Given the description of an element on the screen output the (x, y) to click on. 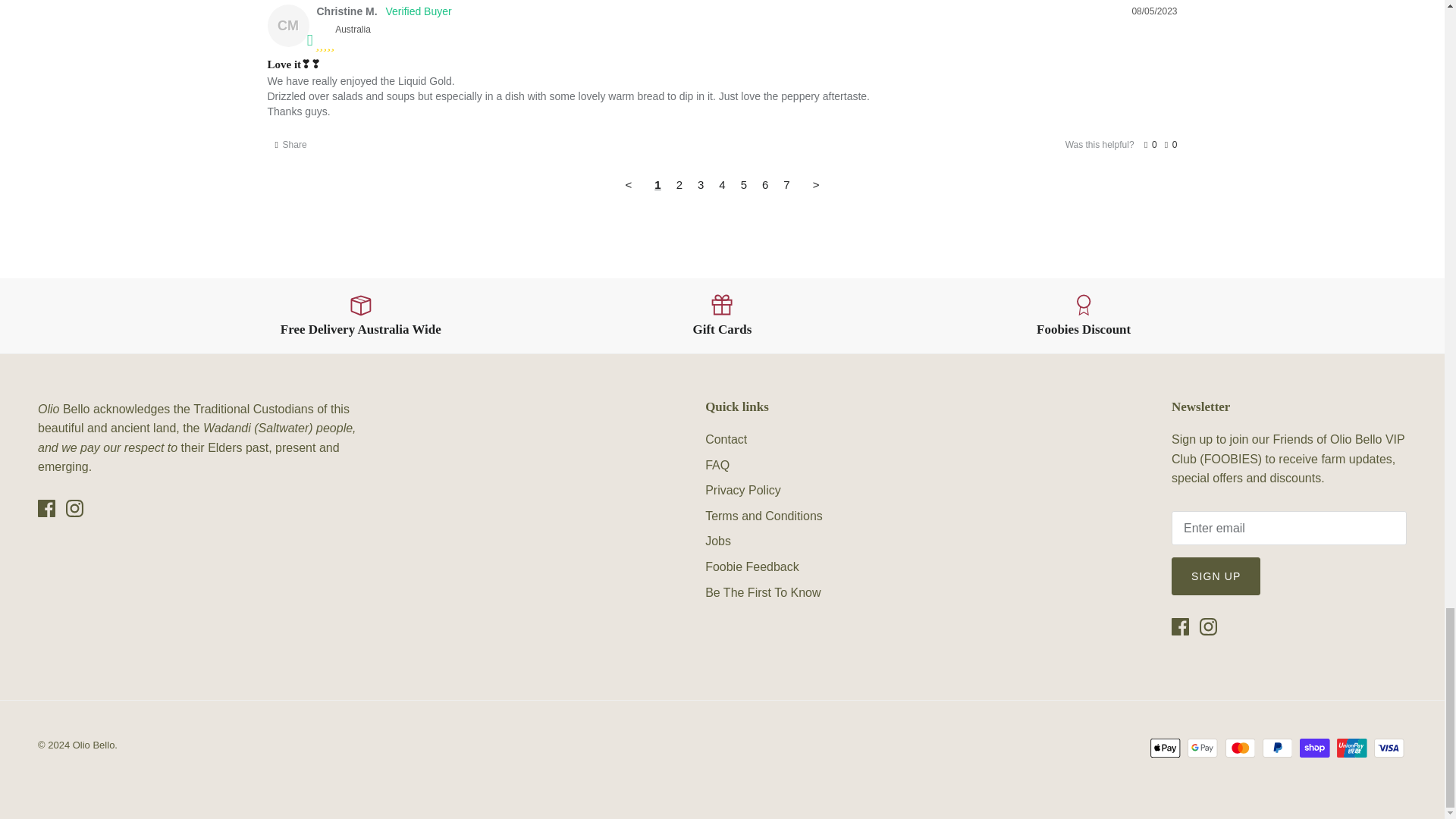
Mastercard (1240, 747)
Union Pay (1351, 747)
Instagram (73, 507)
Visa (1388, 747)
Google Pay (1202, 747)
Instagram (1208, 626)
Facebook (1180, 626)
Apple Pay (1165, 747)
PayPal (1277, 747)
Shop Pay (1314, 747)
